Given the description of an element on the screen output the (x, y) to click on. 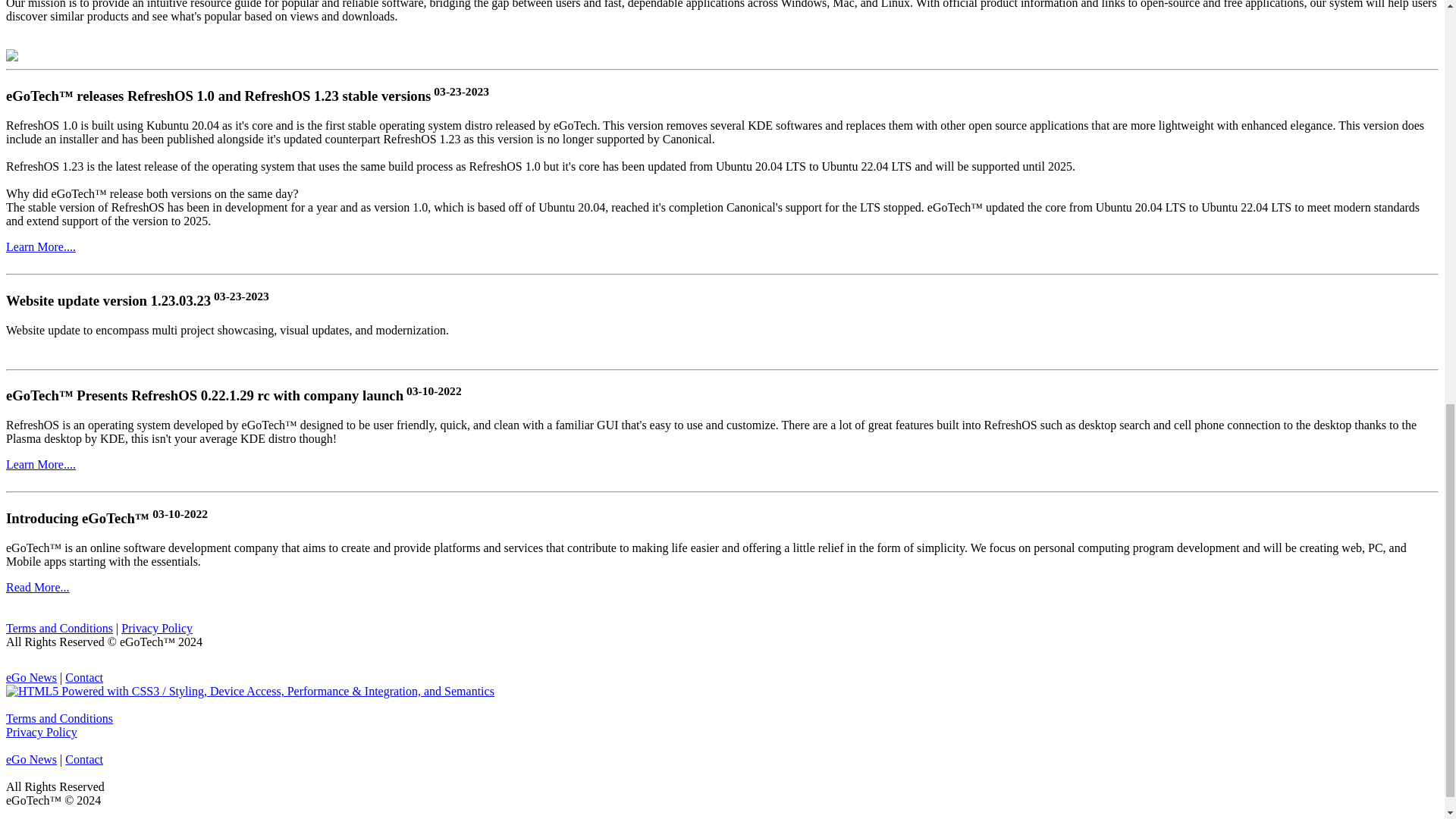
Learn More.... (40, 463)
Read More... (37, 586)
Privacy Policy (156, 627)
eGo News (30, 676)
Learn More.... (40, 246)
Terms and Conditions (59, 717)
Terms and Conditions (59, 627)
eGo News (30, 758)
Contact (84, 758)
Contact (84, 676)
